Given the description of an element on the screen output the (x, y) to click on. 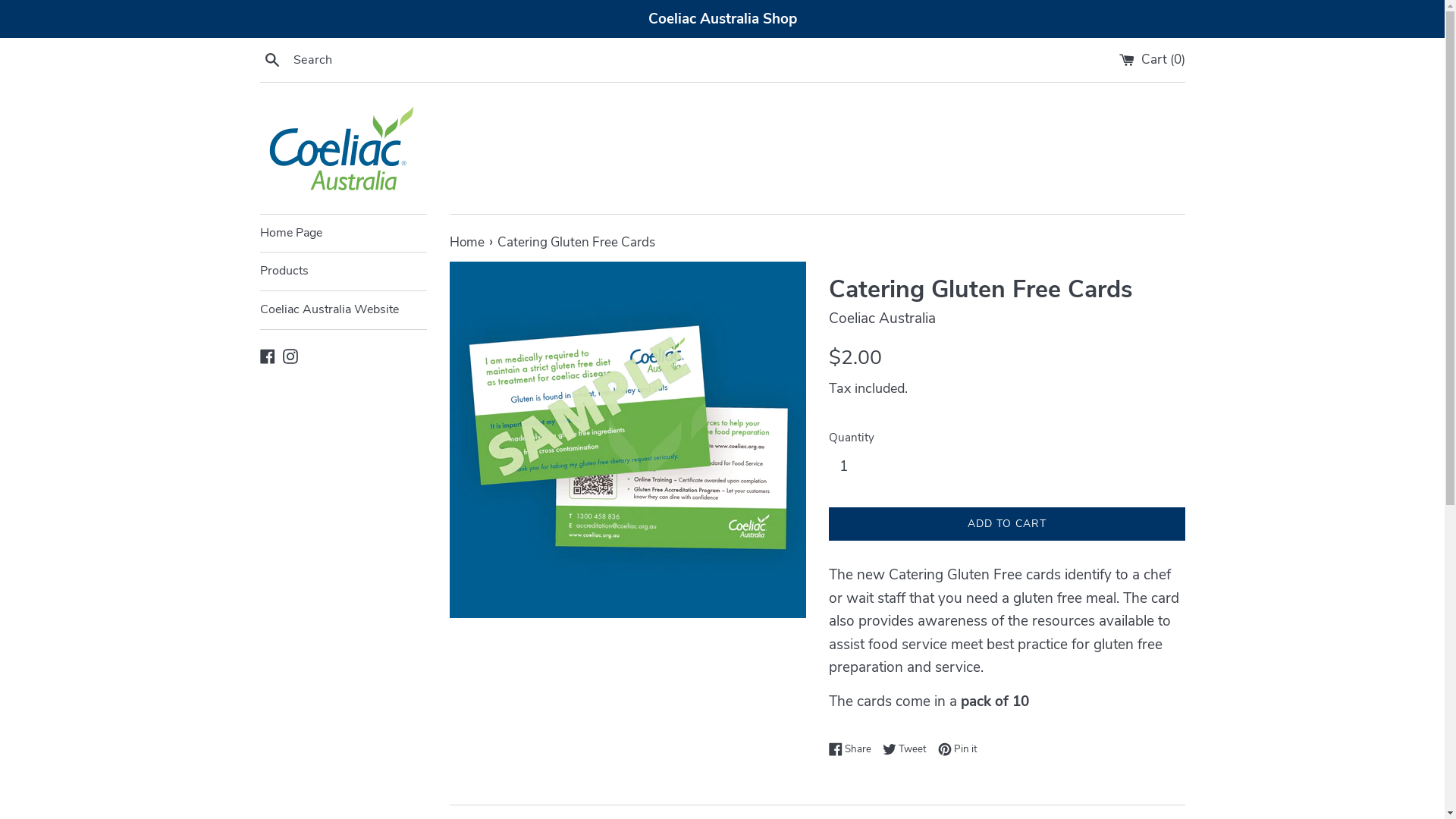
Tweet
Tweet on Twitter Element type: text (908, 749)
Home Element type: text (467, 242)
Search Element type: text (271, 59)
Coeliac Australia Website Element type: text (342, 310)
Instagram Element type: text (289, 355)
Products Element type: text (342, 271)
Pin it
Pin on Pinterest Element type: text (956, 749)
Facebook Element type: text (266, 355)
ADD TO CART Element type: text (1006, 524)
Share
Share on Facebook Element type: text (853, 749)
Cart (0) Element type: text (1152, 59)
Home Page Element type: text (342, 233)
